Given the description of an element on the screen output the (x, y) to click on. 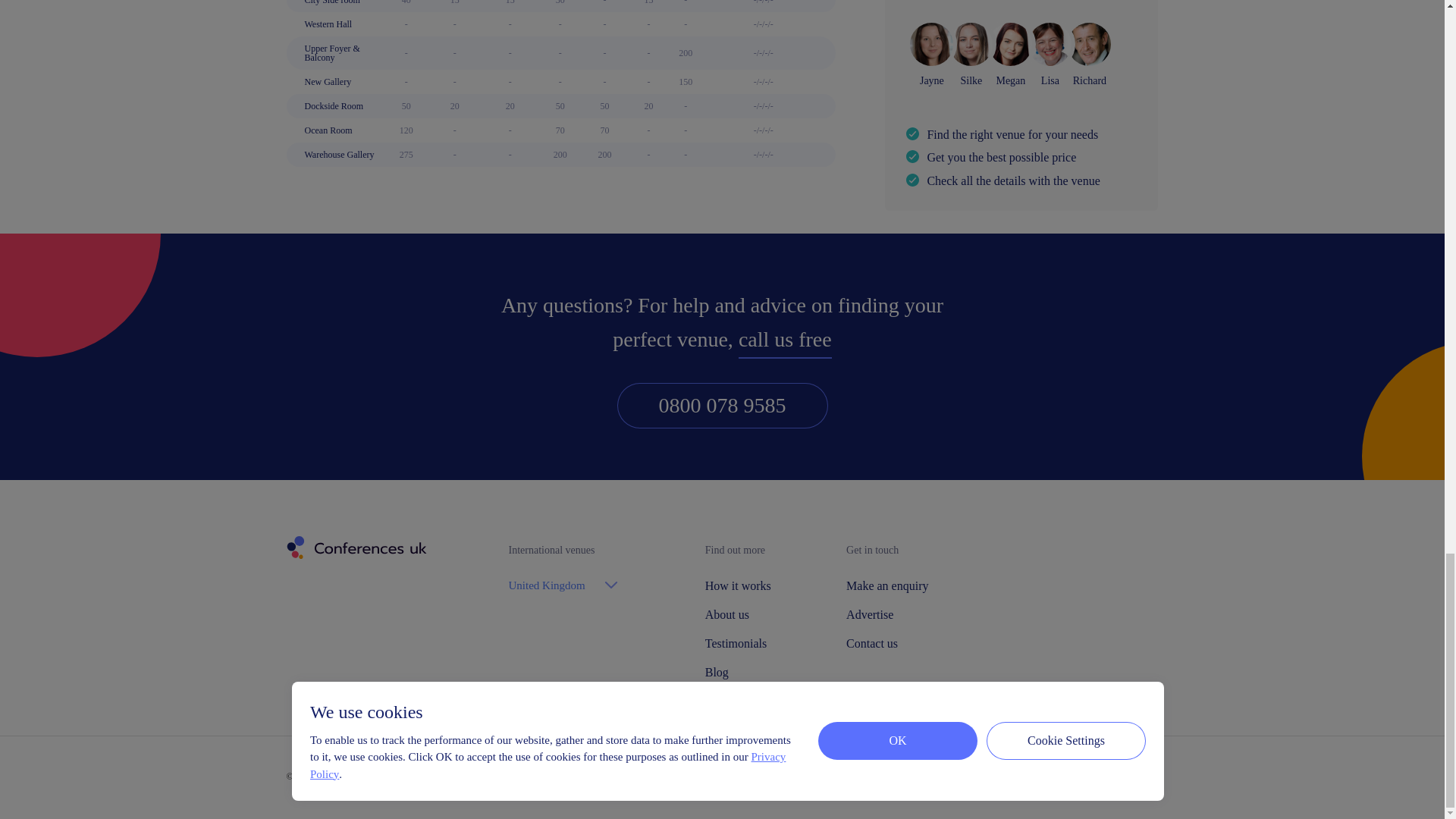
Blog (738, 672)
Make an enquiry (887, 585)
Sitemap (571, 776)
Find us on LinkedIn (1150, 776)
Find us on YouTube (1114, 777)
How it works (738, 585)
Terms and Conditions (501, 776)
About us (738, 614)
Follow us on Twitter (1078, 777)
Find us on Facebook (1047, 777)
Testimonials (738, 643)
Advertise (887, 614)
0800 078 9585 (722, 405)
Conferences UK (354, 547)
Contact us (887, 643)
